Given the description of an element on the screen output the (x, y) to click on. 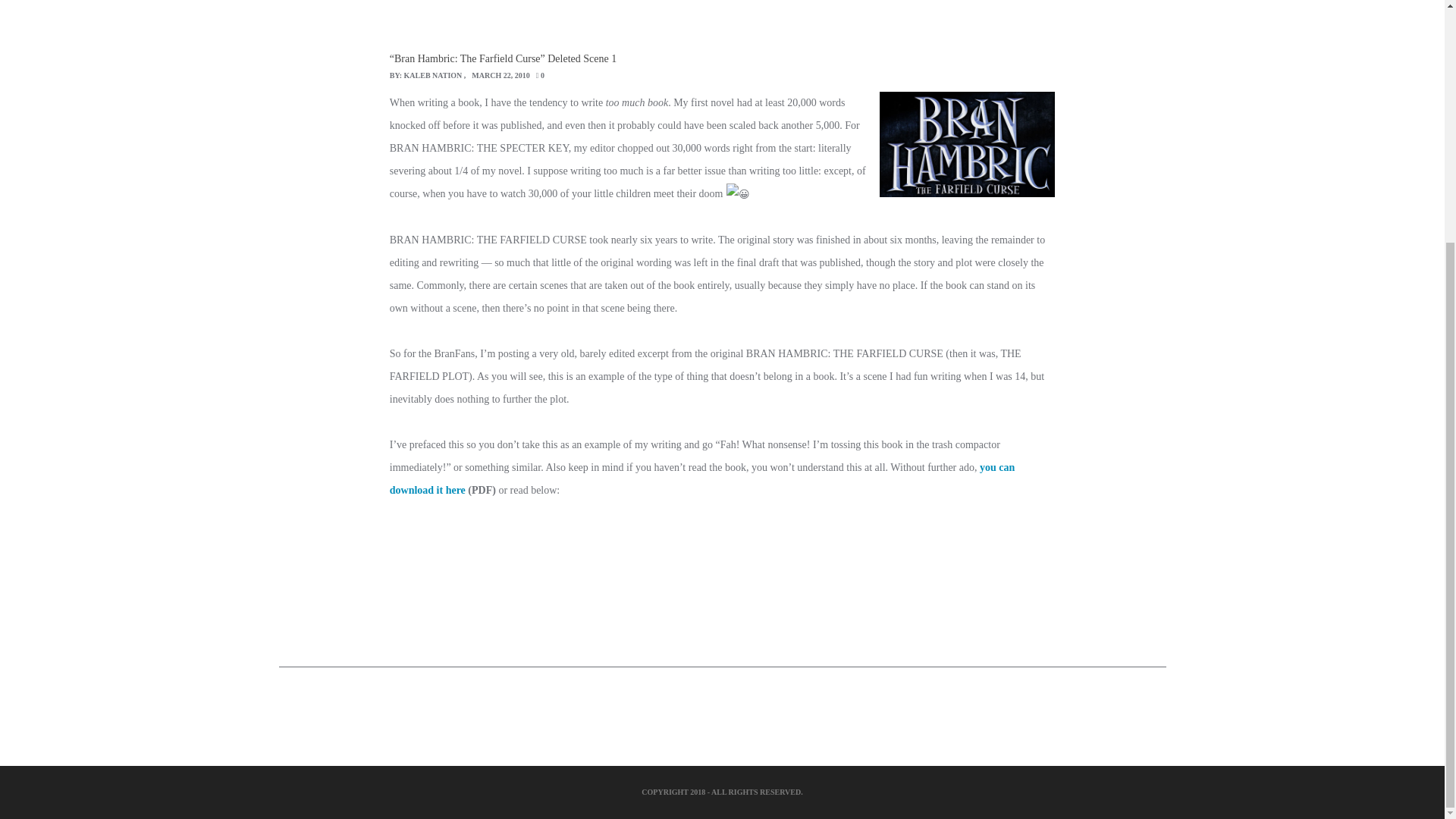
Posts by Kaleb Nation (433, 75)
LOGO-designed-small1 (966, 144)
